Given the description of an element on the screen output the (x, y) to click on. 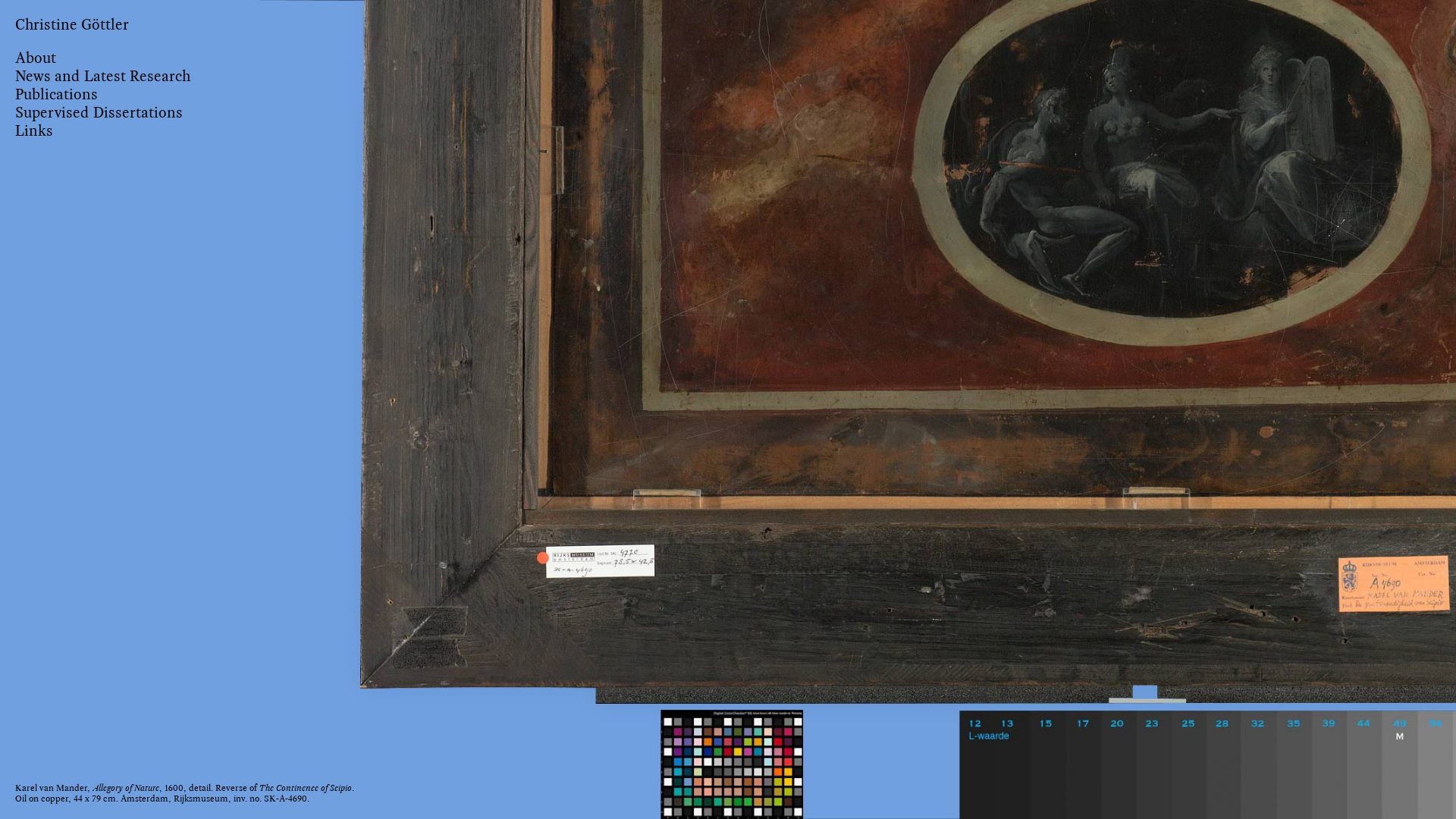
About Element type: text (35, 57)
Links Element type: text (34, 130)
Publications Element type: text (56, 93)
News and Latest Research Element type: text (102, 75)
Supervised Dissertations Element type: text (98, 111)
